Given the description of an element on the screen output the (x, y) to click on. 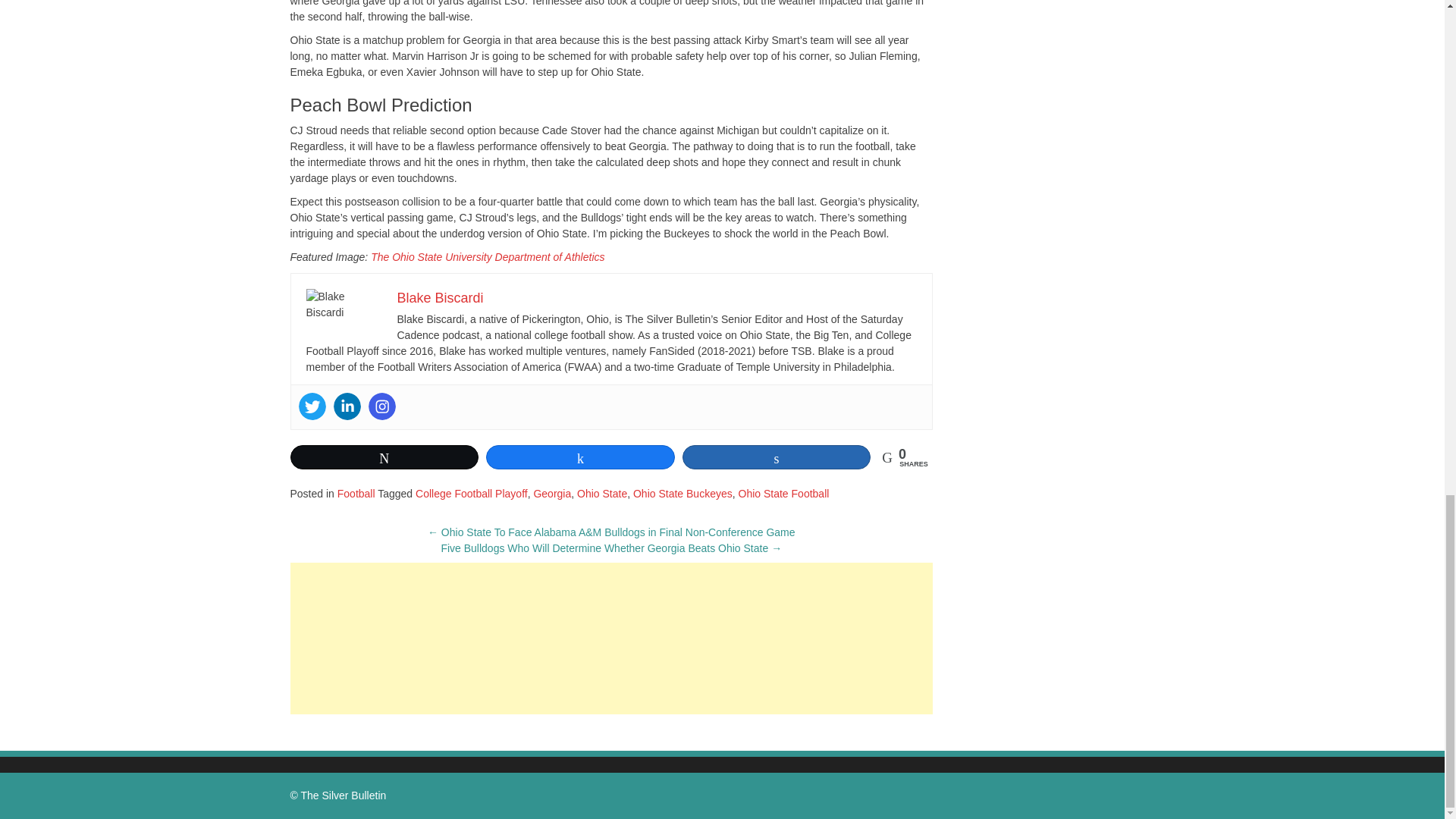
Ohio State Buckeyes (682, 493)
Twitter (312, 406)
Georgia (551, 493)
The Ohio State University Department of Athletics (487, 256)
Ohio State (601, 493)
Linkedin (347, 406)
College Football Playoff (470, 493)
Blake Biscardi (440, 297)
Ohio State Football (783, 493)
Instagram (382, 406)
Football (356, 493)
